Given the description of an element on the screen output the (x, y) to click on. 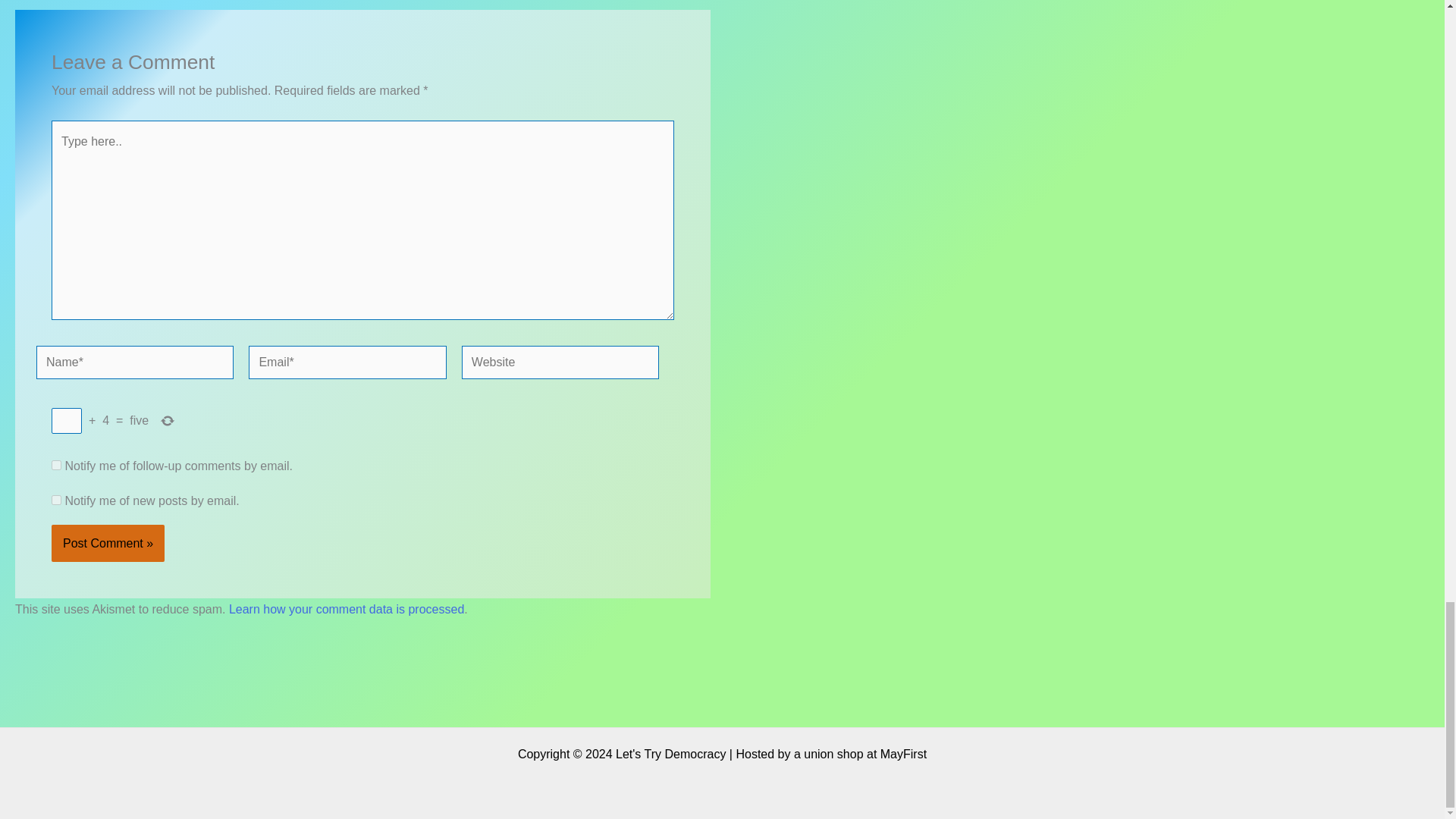
subscribe (55, 500)
subscribe (55, 465)
